Given the description of an element on the screen output the (x, y) to click on. 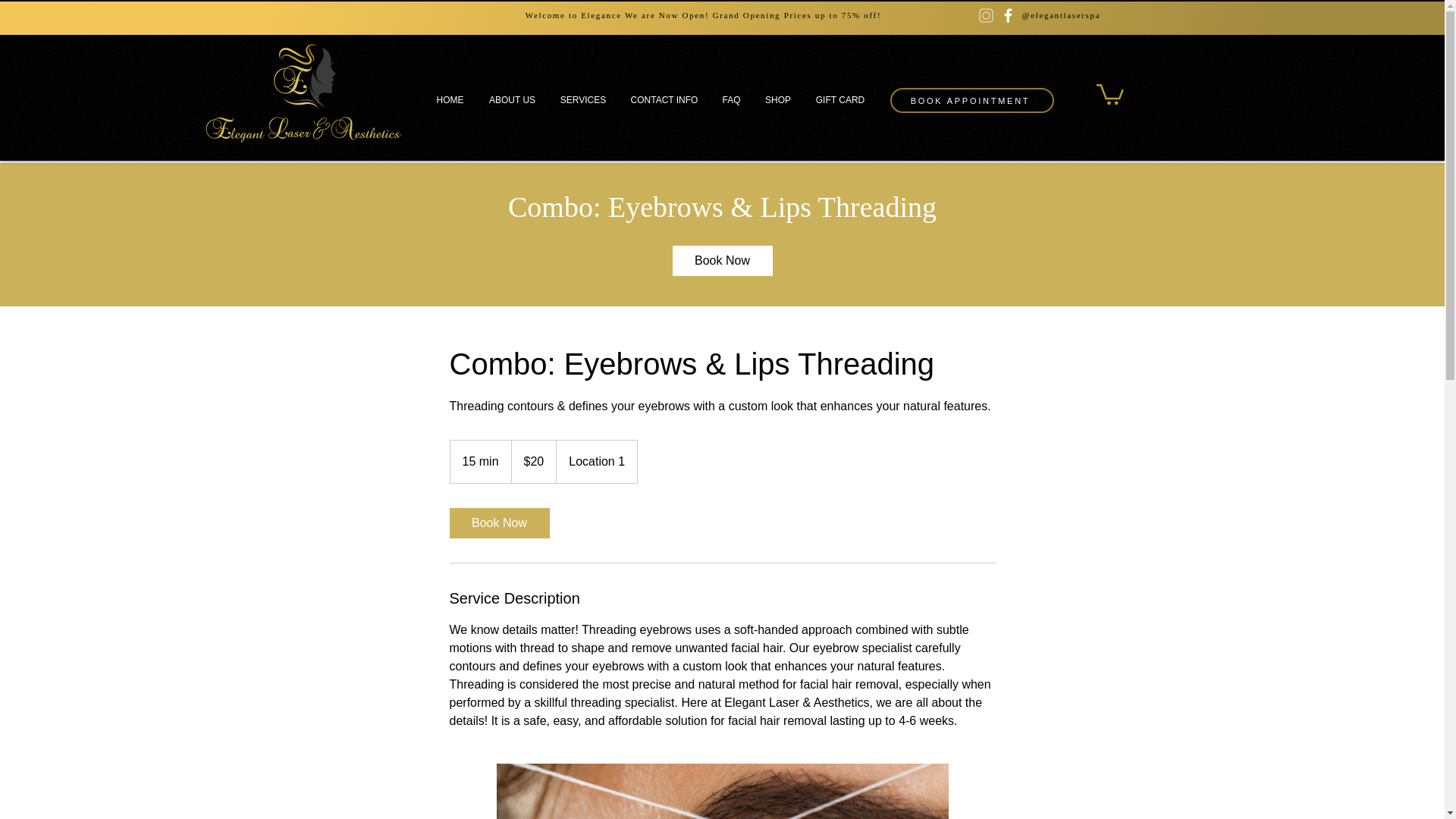
GIFT CARD (840, 100)
BOOK APPOINTMENT (971, 100)
ABOUT US (511, 100)
Book Now (498, 522)
FAQ (731, 100)
HOME (449, 100)
CONTACT INFO (664, 100)
Book Now (721, 260)
SERVICES (582, 100)
SHOP (777, 100)
